Given the description of an element on the screen output the (x, y) to click on. 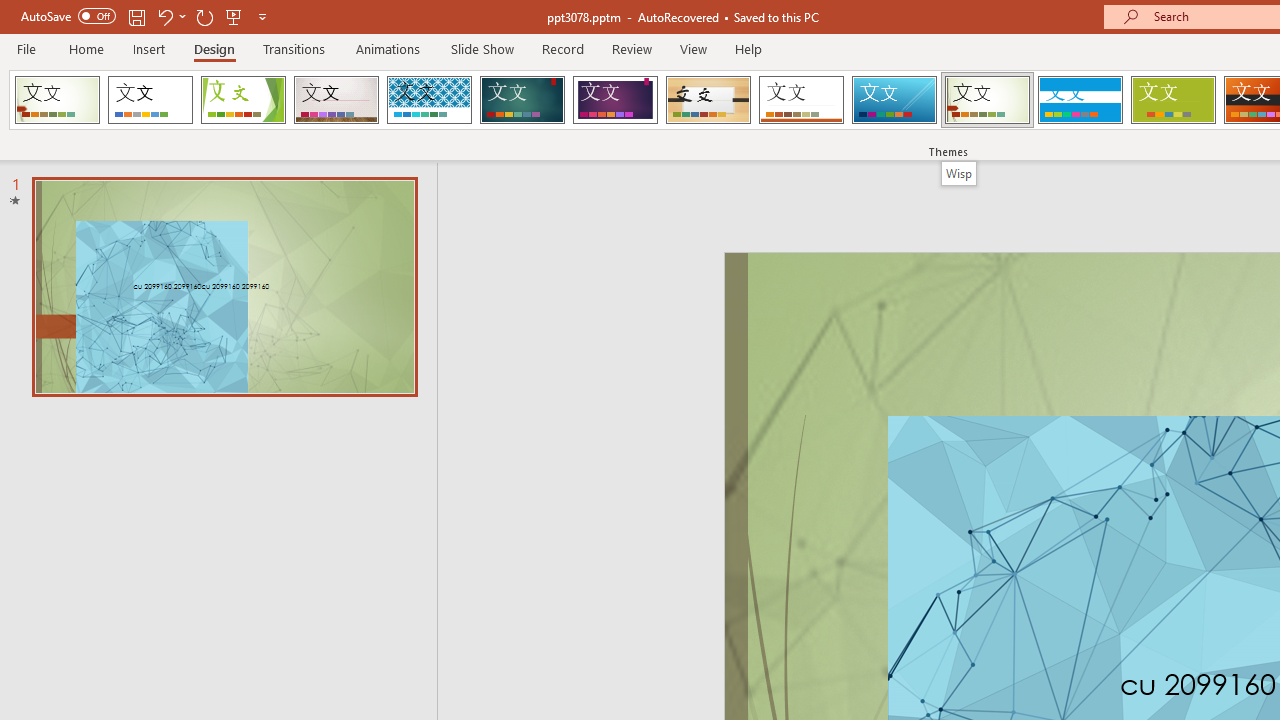
Customize Quick Access Toolbar (262, 15)
Insert (149, 48)
Redo (204, 15)
Review (631, 48)
